Given the description of an element on the screen output the (x, y) to click on. 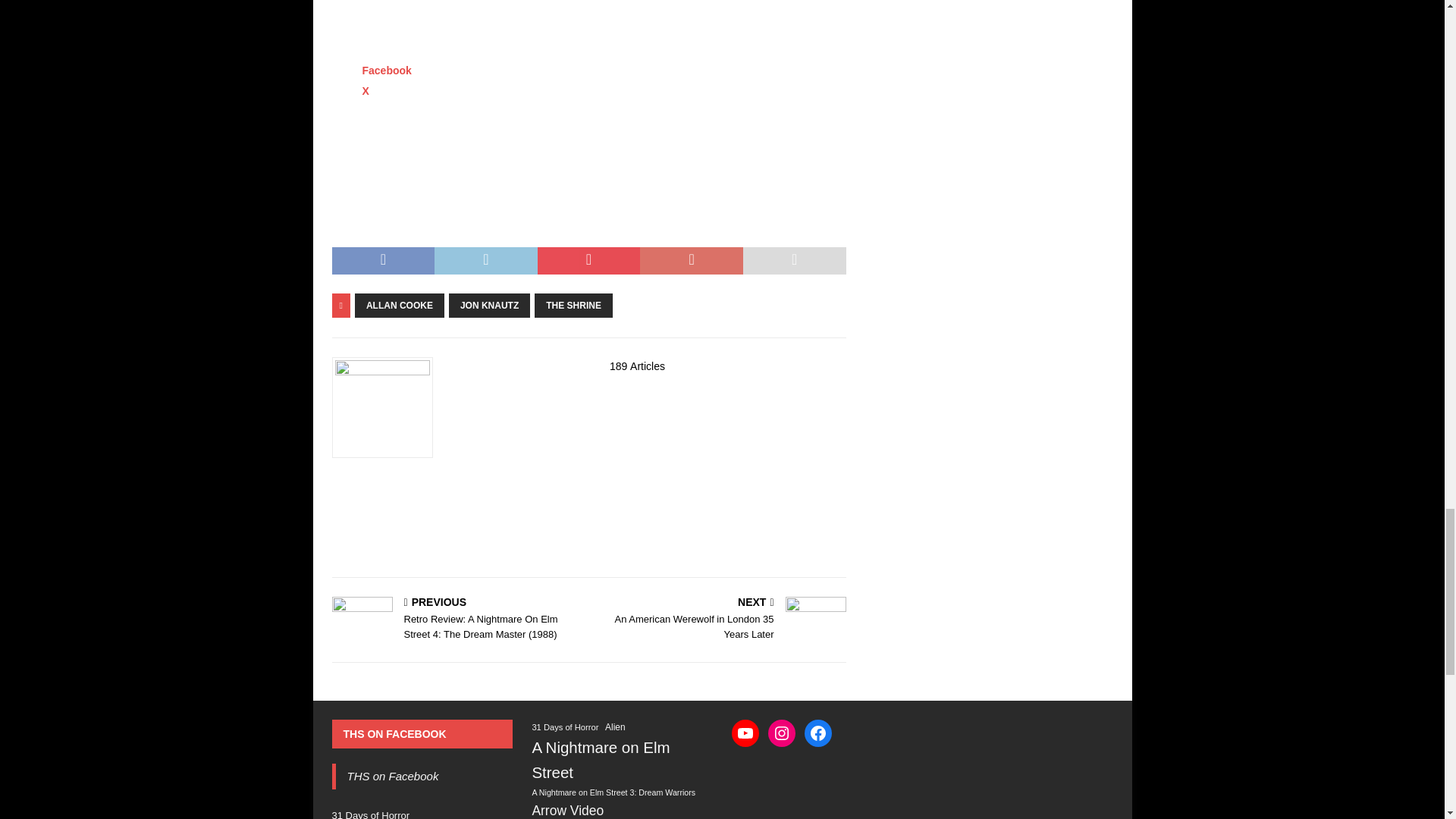
Click to share on Facebook (387, 70)
